Given the description of an element on the screen output the (x, y) to click on. 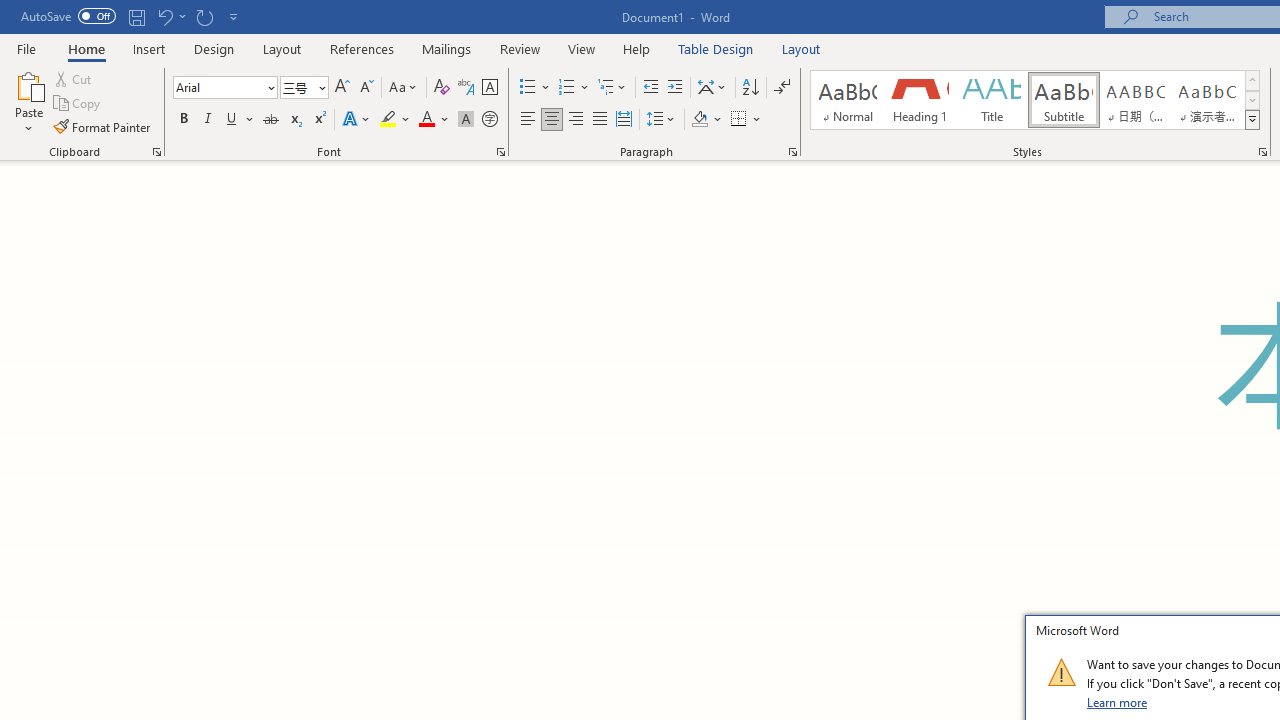
Font Color Red (426, 119)
Heading 1 (920, 100)
Superscript (319, 119)
Subscript (294, 119)
Justify (599, 119)
Title (991, 100)
Shrink Font (365, 87)
